Given the description of an element on the screen output the (x, y) to click on. 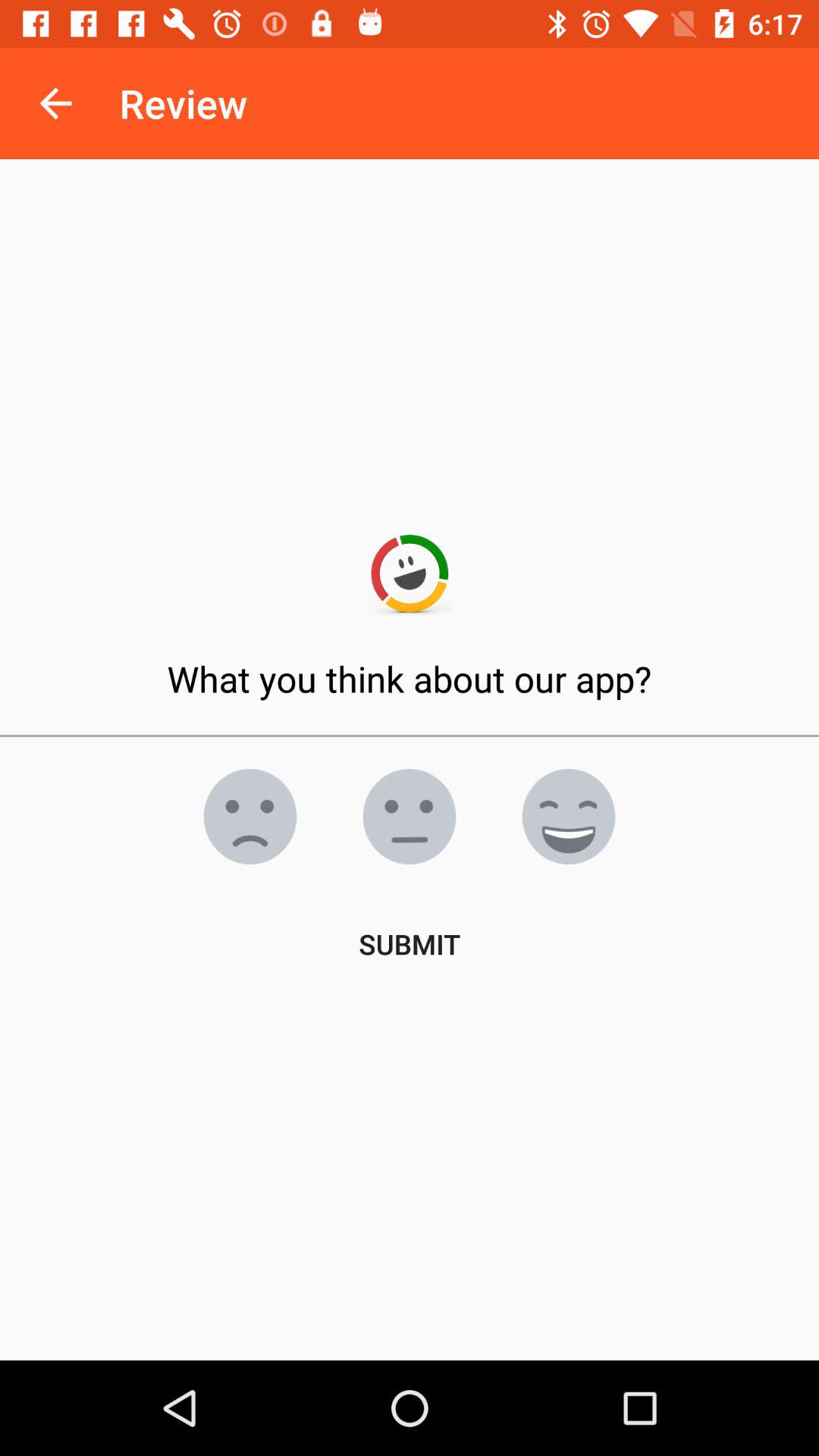
launch item on the left (249, 816)
